Given the description of an element on the screen output the (x, y) to click on. 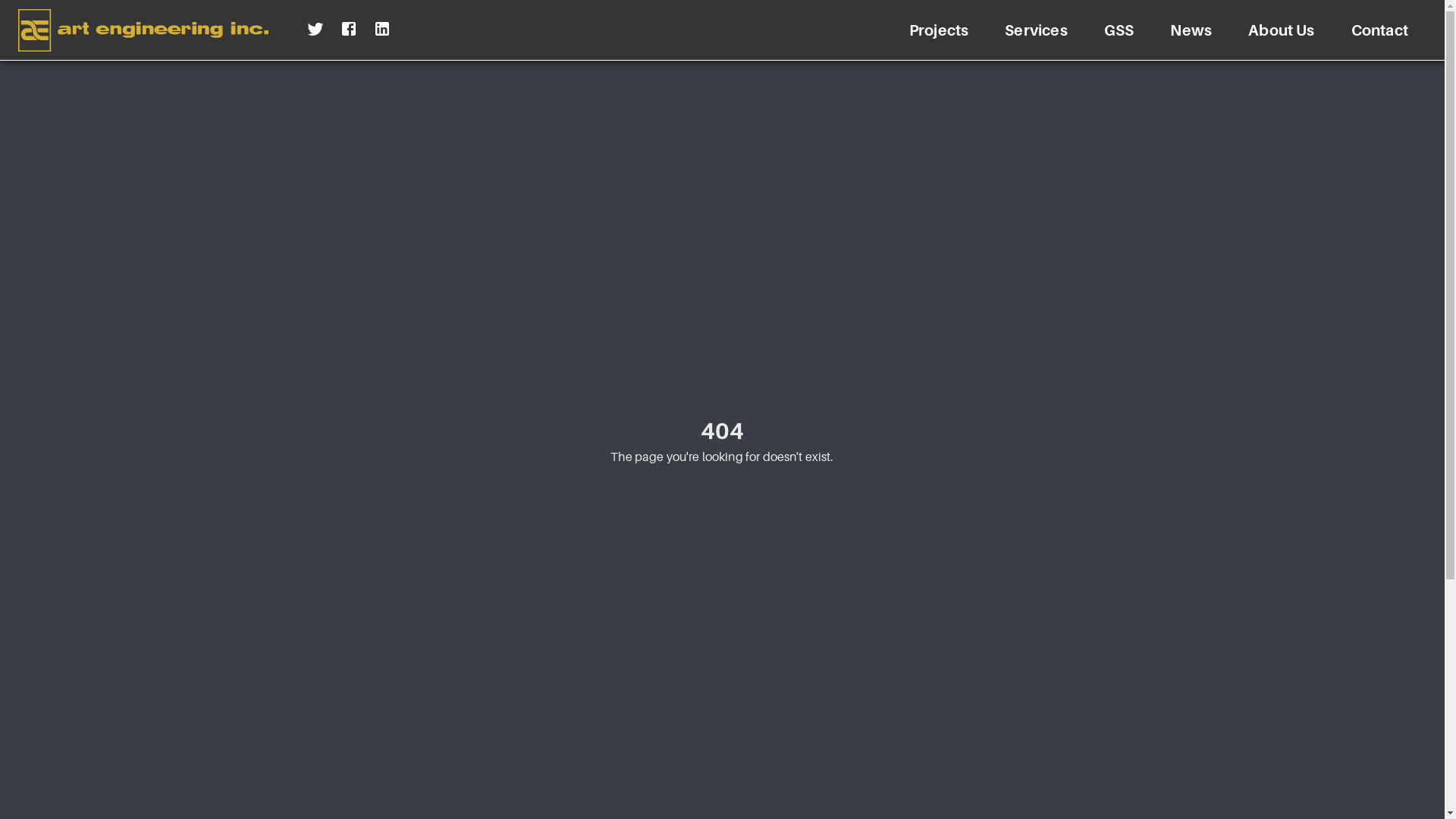
Contact Element type: text (1379, 29)
About Us Element type: text (1281, 29)
News Element type: text (1190, 29)
Projects Element type: text (939, 29)
Services Element type: text (1035, 29)
GSS Element type: text (1118, 29)
